Given the description of an element on the screen output the (x, y) to click on. 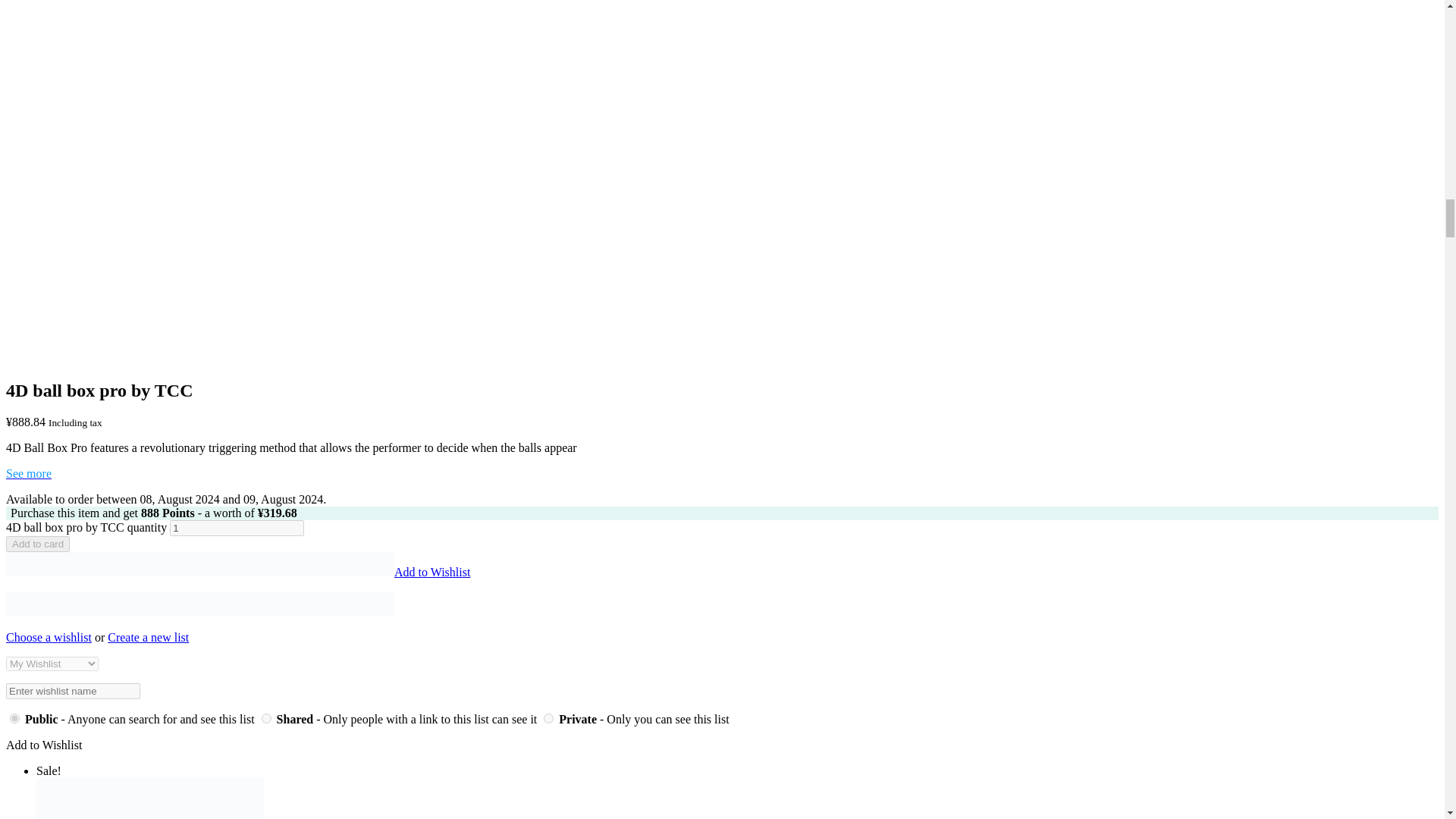
1 (266, 718)
1 (237, 528)
2 (548, 718)
0 (15, 718)
